Given the description of an element on the screen output the (x, y) to click on. 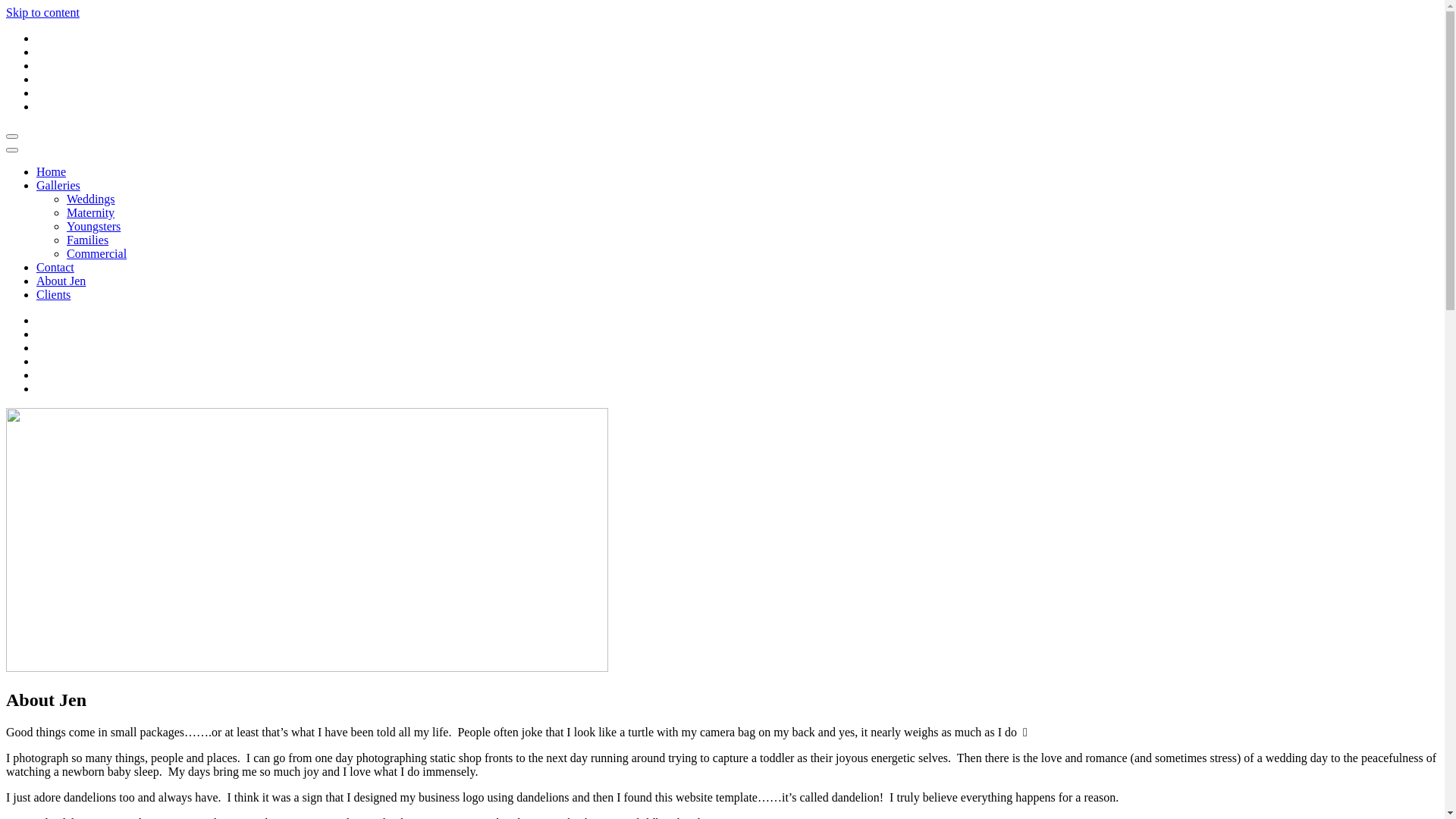
Clients Element type: text (53, 294)
Weddings Element type: text (90, 198)
Youngsters Element type: text (93, 225)
Skip to content Element type: text (42, 12)
Contact Element type: text (55, 266)
Maternity Element type: text (90, 212)
Commercial Element type: text (96, 253)
About Jen Element type: text (60, 280)
Home Element type: text (50, 171)
Families Element type: text (87, 239)
Galleries Element type: text (58, 184)
